Given the description of an element on the screen output the (x, y) to click on. 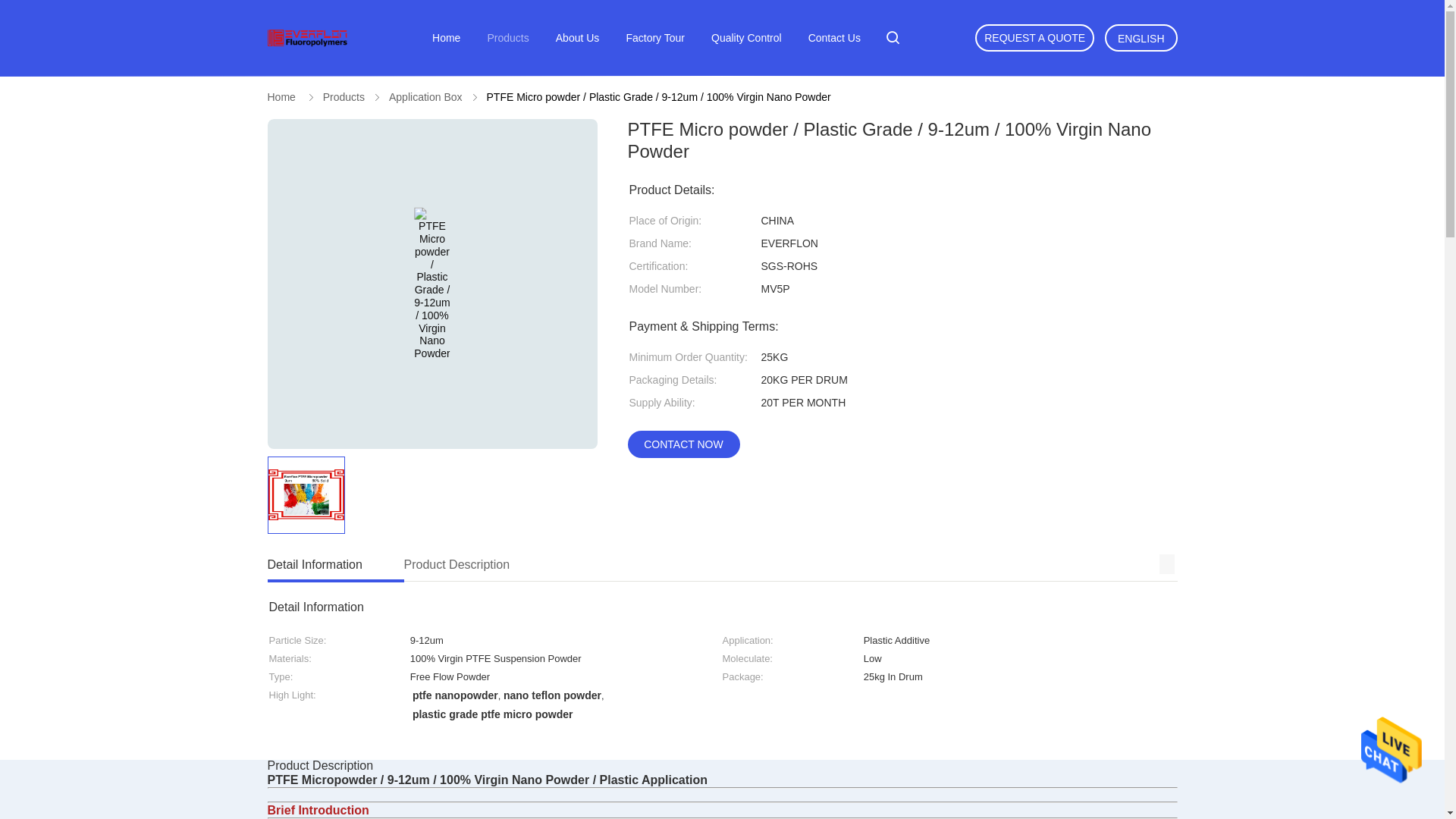
Home (280, 96)
Contact Us (834, 37)
Products (507, 37)
Products (721, 565)
Factory Tour (344, 96)
About Us (655, 37)
Quality Control (577, 37)
REQUEST A QUOTE (746, 37)
Home (1034, 37)
Application Box (446, 37)
